Given the description of an element on the screen output the (x, y) to click on. 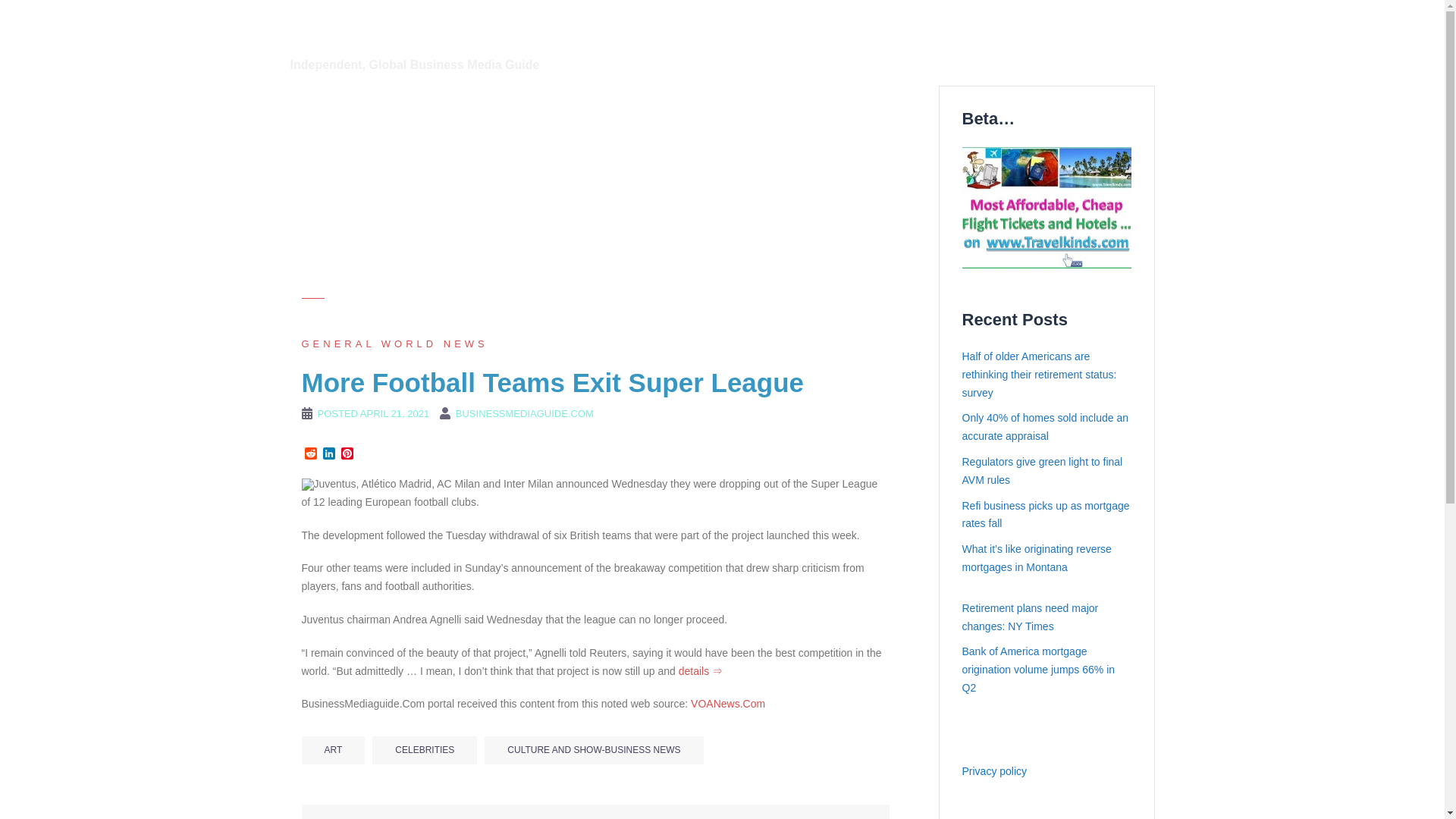
Privacy policy (993, 770)
Pinterest (346, 454)
VOANews.Com (727, 703)
Retirement plans need major changes: NY Times (1028, 616)
BUSINESSMEDIAGUIDE.COM (524, 413)
Great Britain Newspapers (803, 45)
Education news (958, 27)
Refi business picks up as mortgage rates fall (1044, 514)
Advertisement (595, 191)
LinkedIn (328, 454)
LinkedIn (328, 454)
Education news (958, 27)
Reddit (310, 454)
Gold prices in Dubai (1065, 27)
BusinessMediaguide.Com (440, 29)
